Given the description of an element on the screen output the (x, y) to click on. 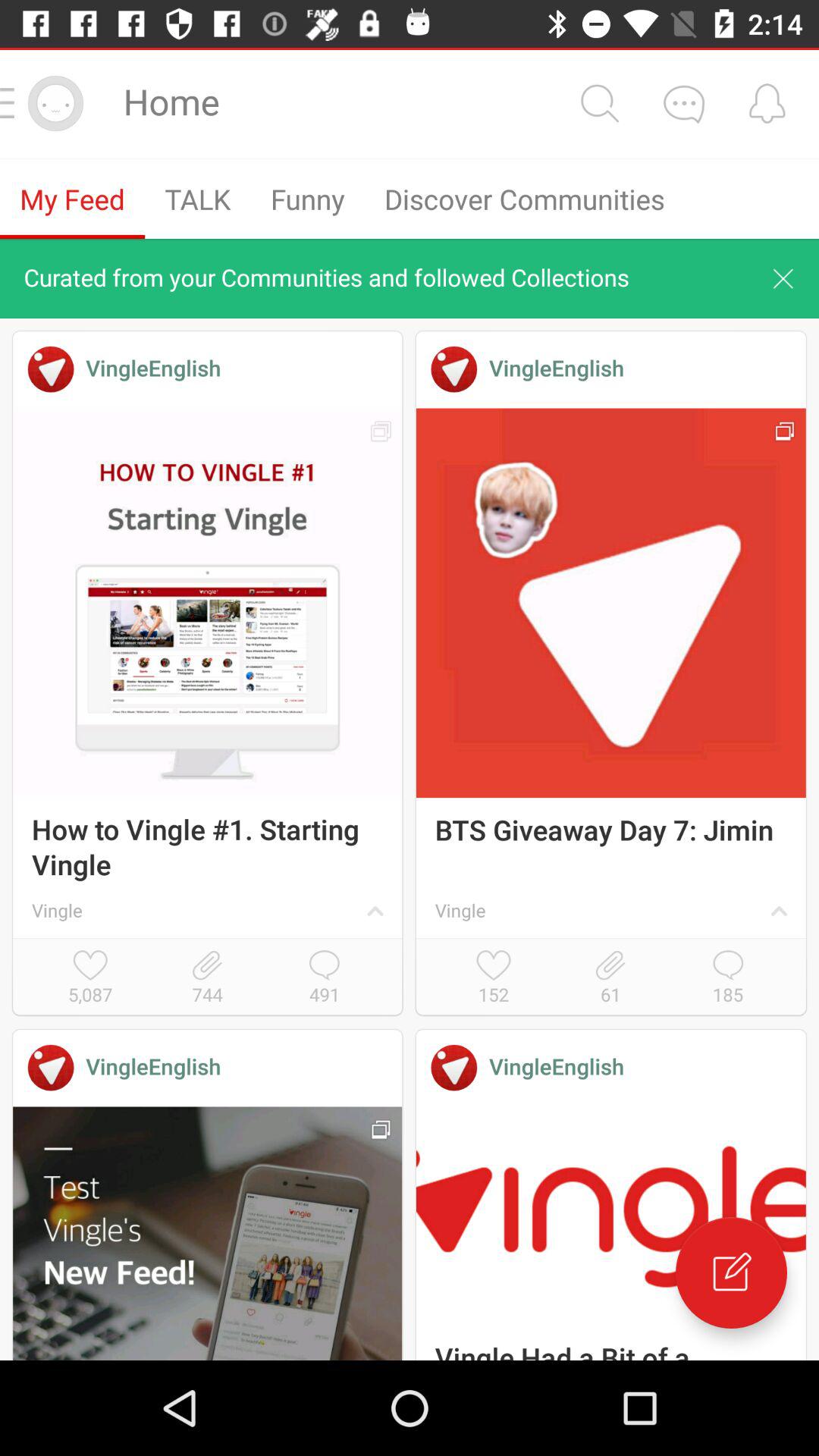
choose the item to the right of 491 item (493, 978)
